Given the description of an element on the screen output the (x, y) to click on. 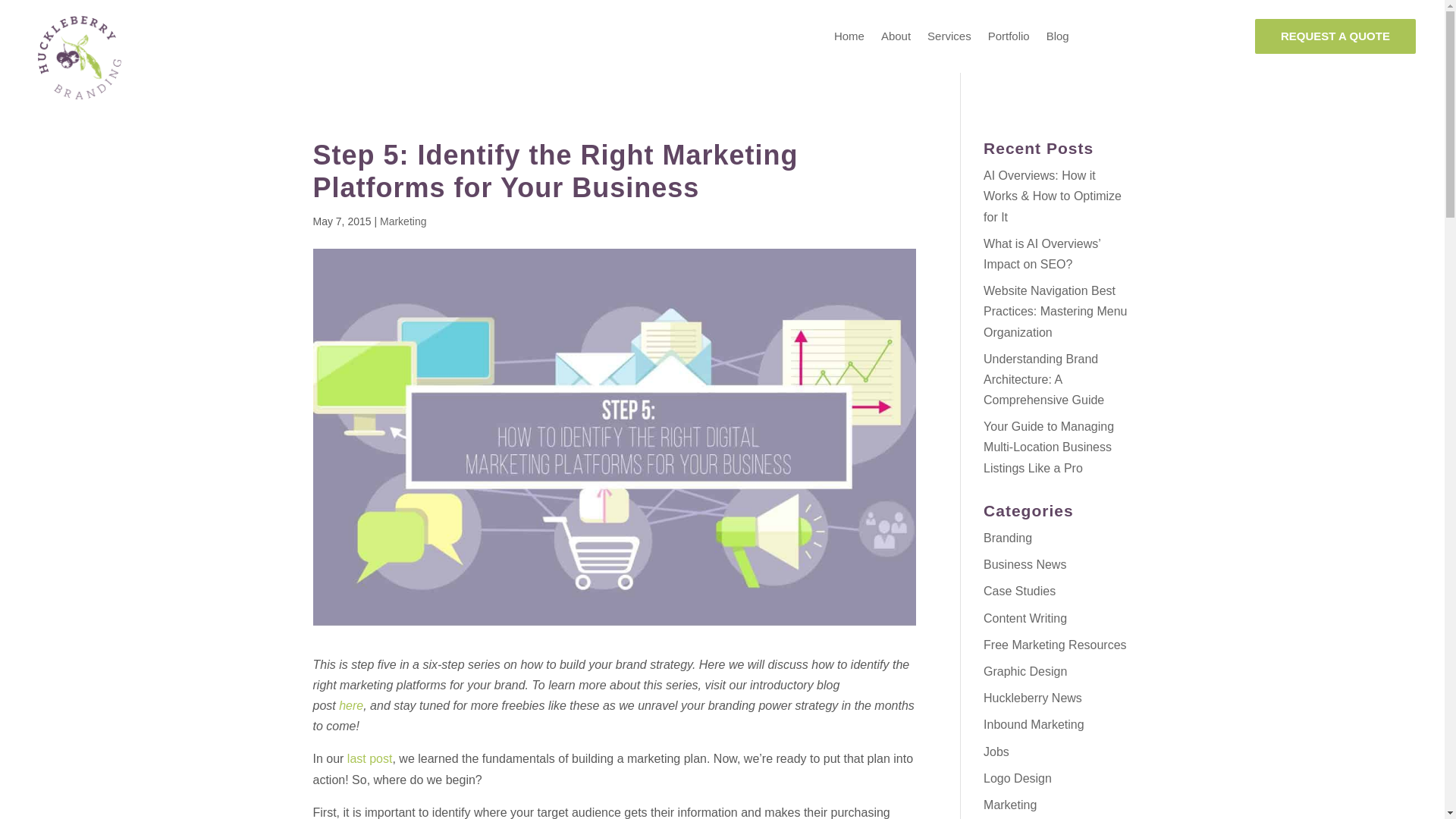
Jobs (996, 750)
Inbound Marketing (1034, 724)
Huckleberry News (1032, 697)
Free Marketing Resources (1055, 644)
here (350, 705)
Marketing (403, 221)
Graphic Design (1025, 671)
Branding (1008, 537)
Business News (1024, 563)
